Given the description of an element on the screen output the (x, y) to click on. 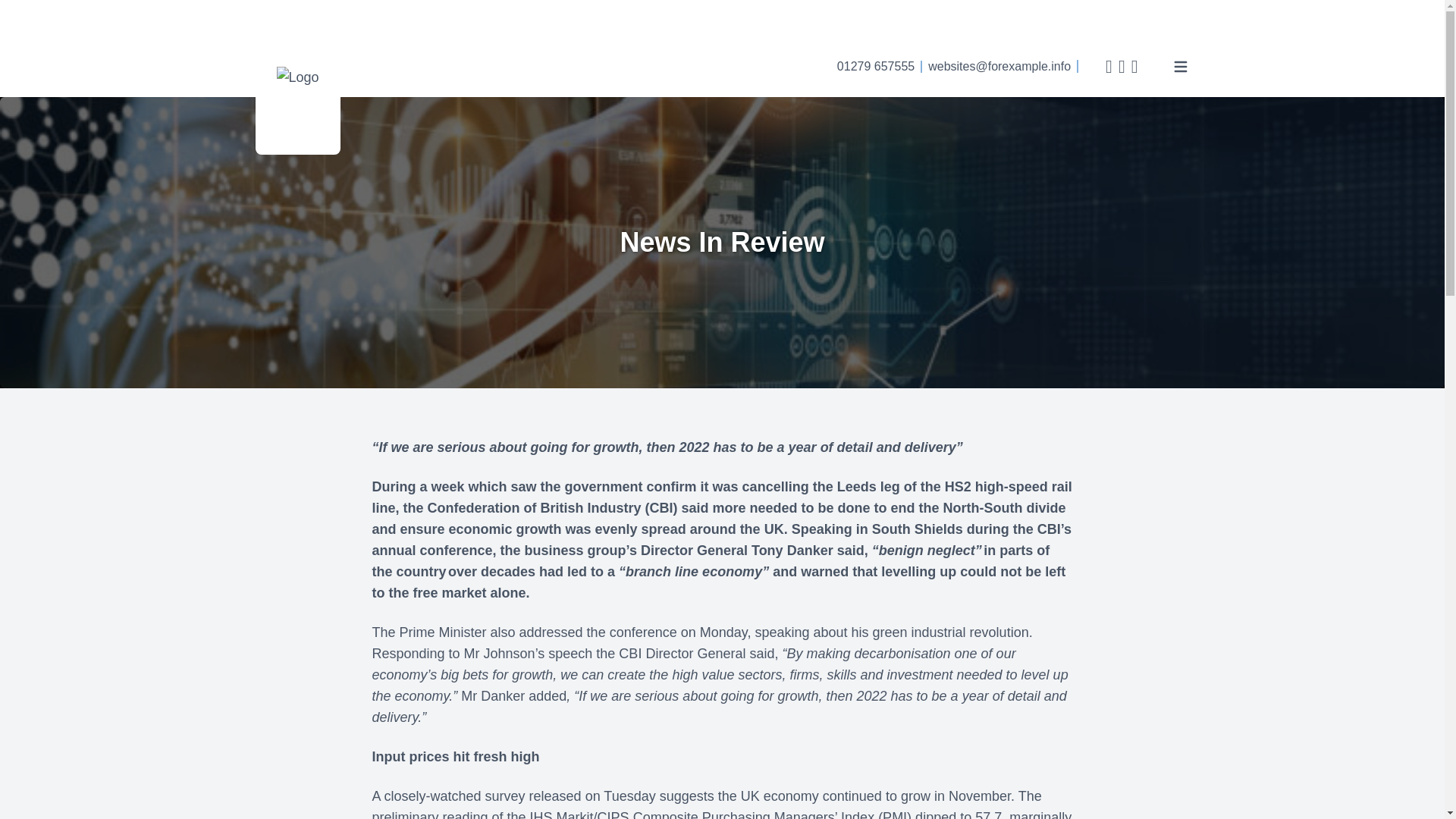
01279 657555 (875, 65)
